Given the description of an element on the screen output the (x, y) to click on. 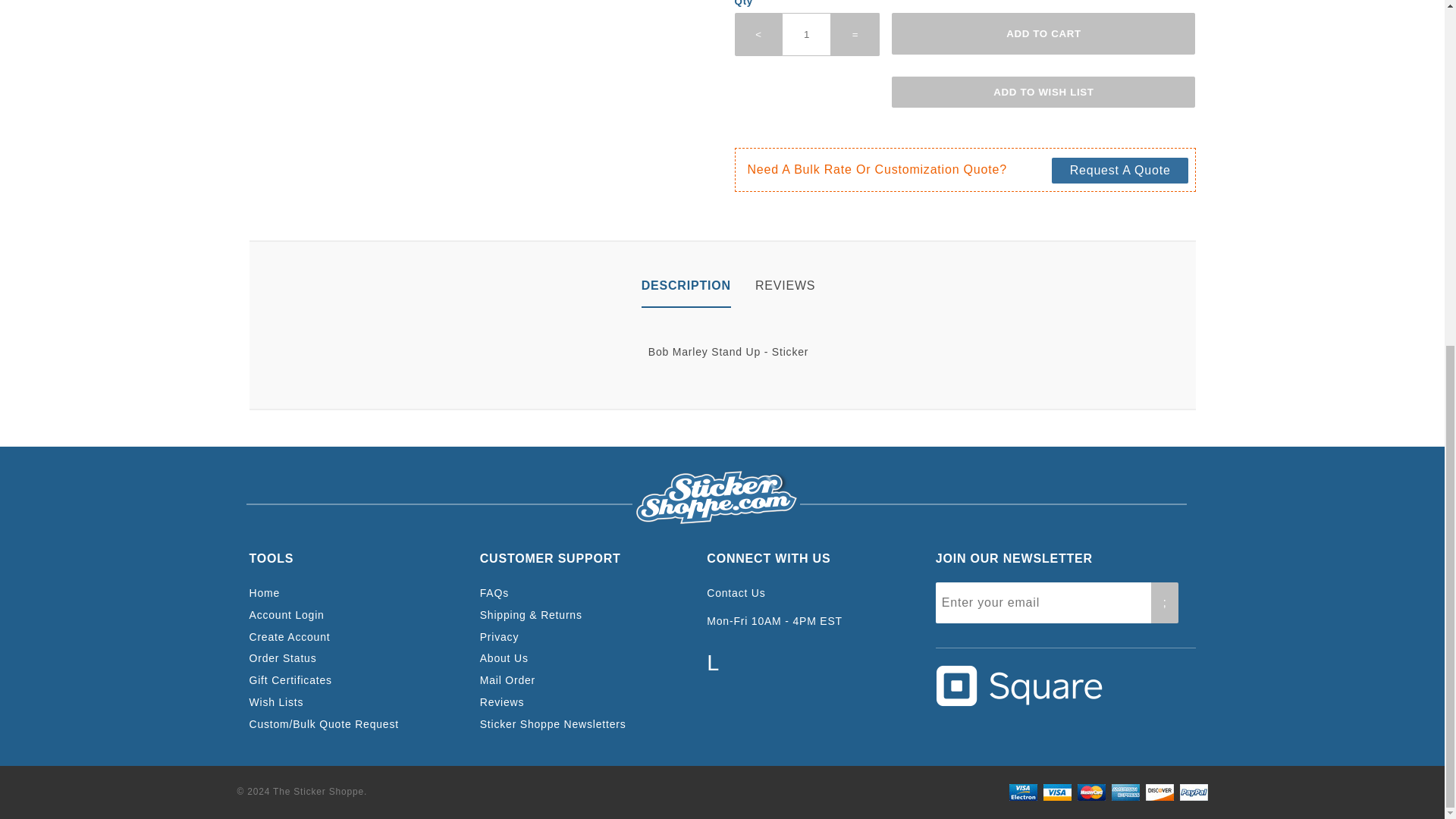
Add To Cart (1043, 33)
Add to Wish List (1043, 92)
1 (807, 34)
